Given the description of an element on the screen output the (x, y) to click on. 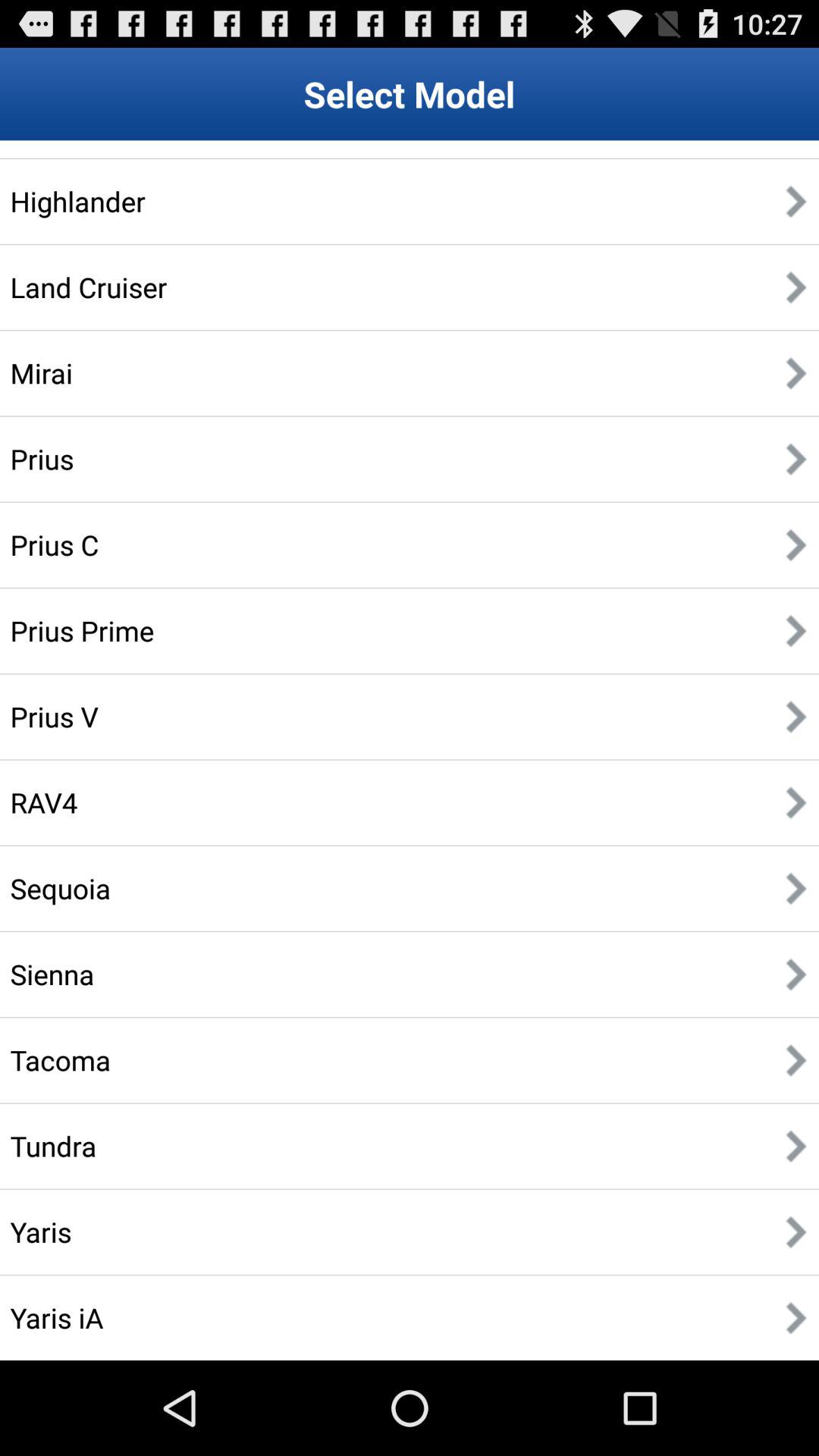
launch the app above mirai icon (88, 286)
